Given the description of an element on the screen output the (x, y) to click on. 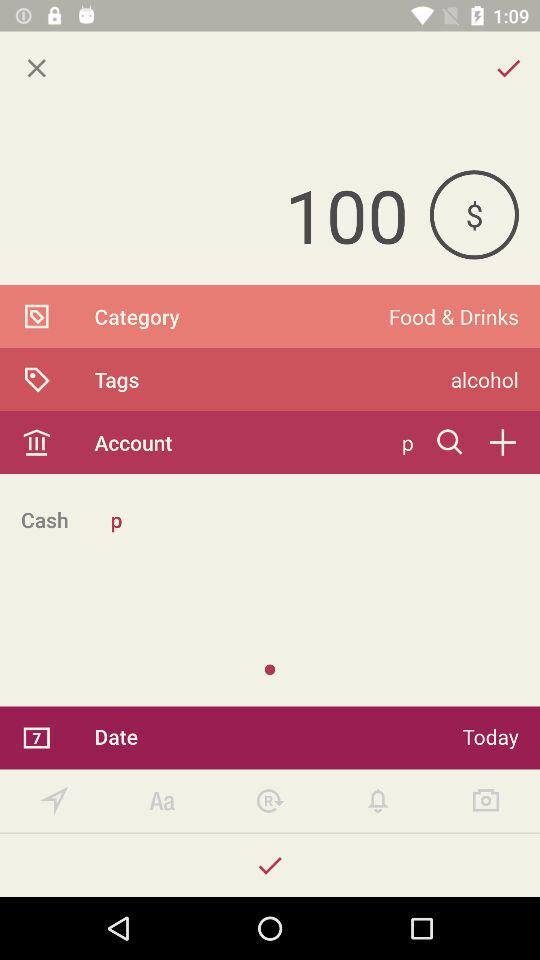
ok (270, 865)
